Given the description of an element on the screen output the (x, y) to click on. 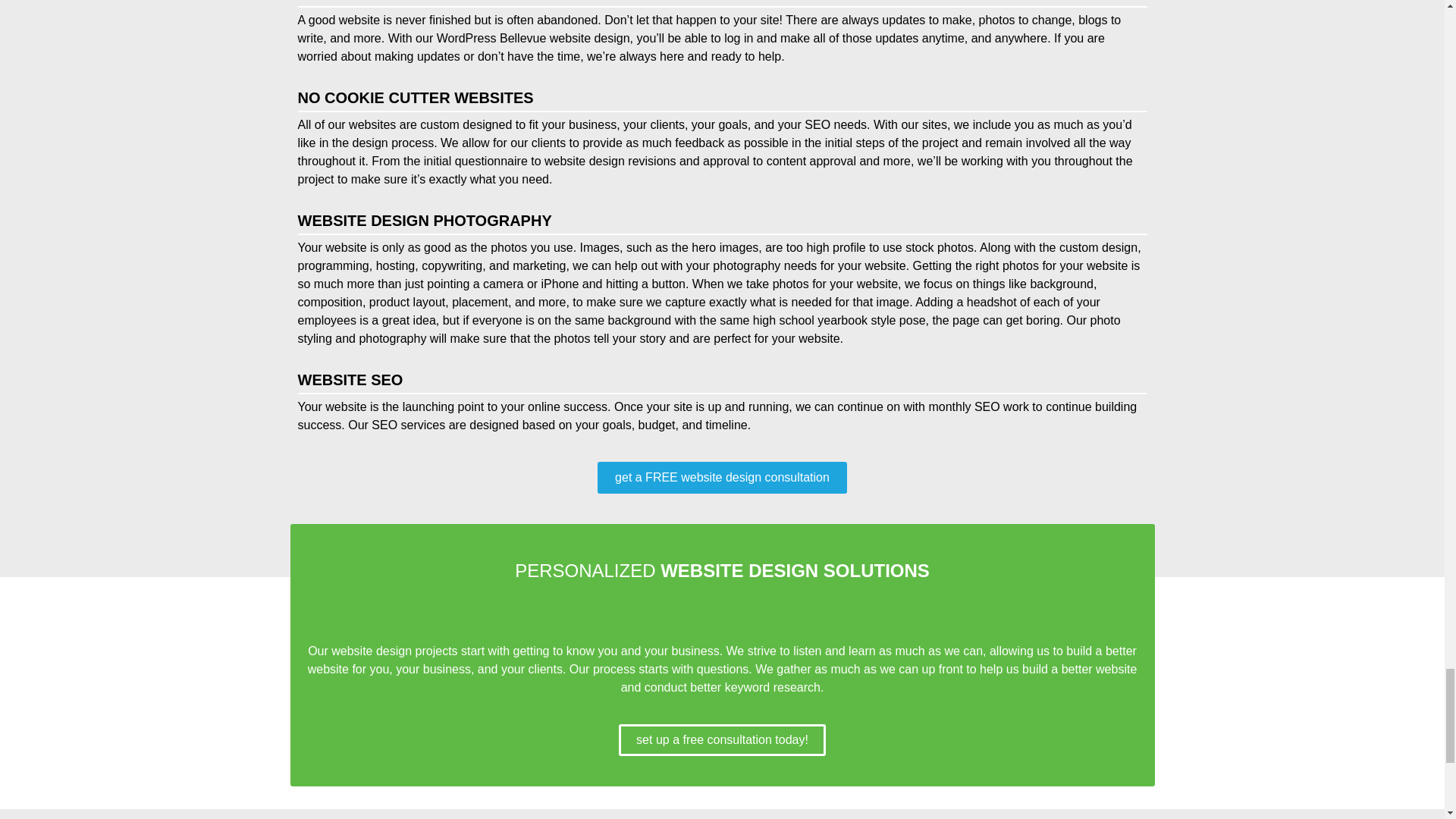
set up a free consultation today! (721, 739)
get a FREE website design consultation (721, 477)
